Given the description of an element on the screen output the (x, y) to click on. 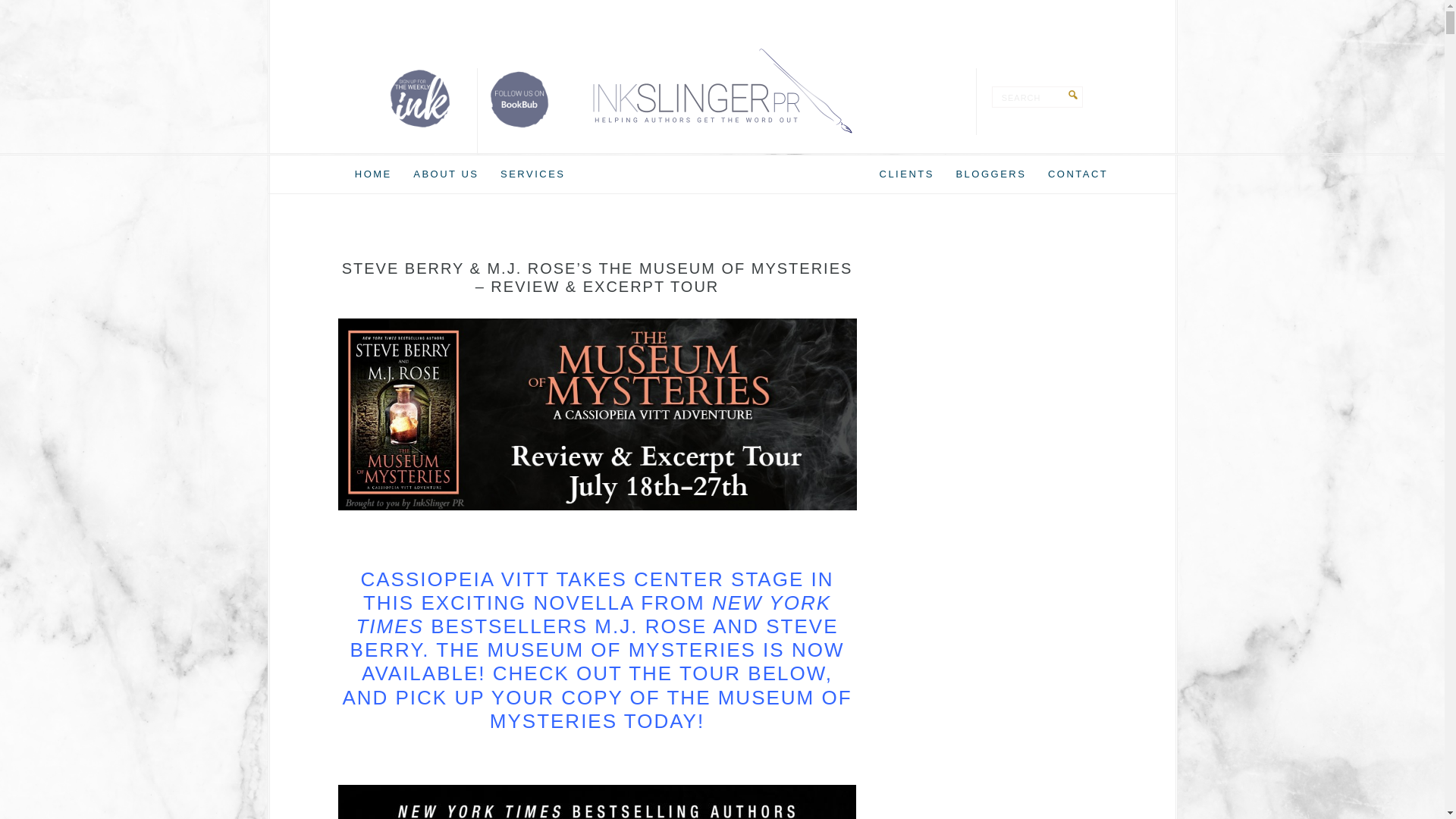
INKSLINGER PR (722, 91)
BLOGGERS (990, 174)
CONTACT (1077, 174)
SERVICES (533, 174)
ABOUT US (445, 174)
HOME (373, 174)
CLIENTS (906, 174)
